Given the description of an element on the screen output the (x, y) to click on. 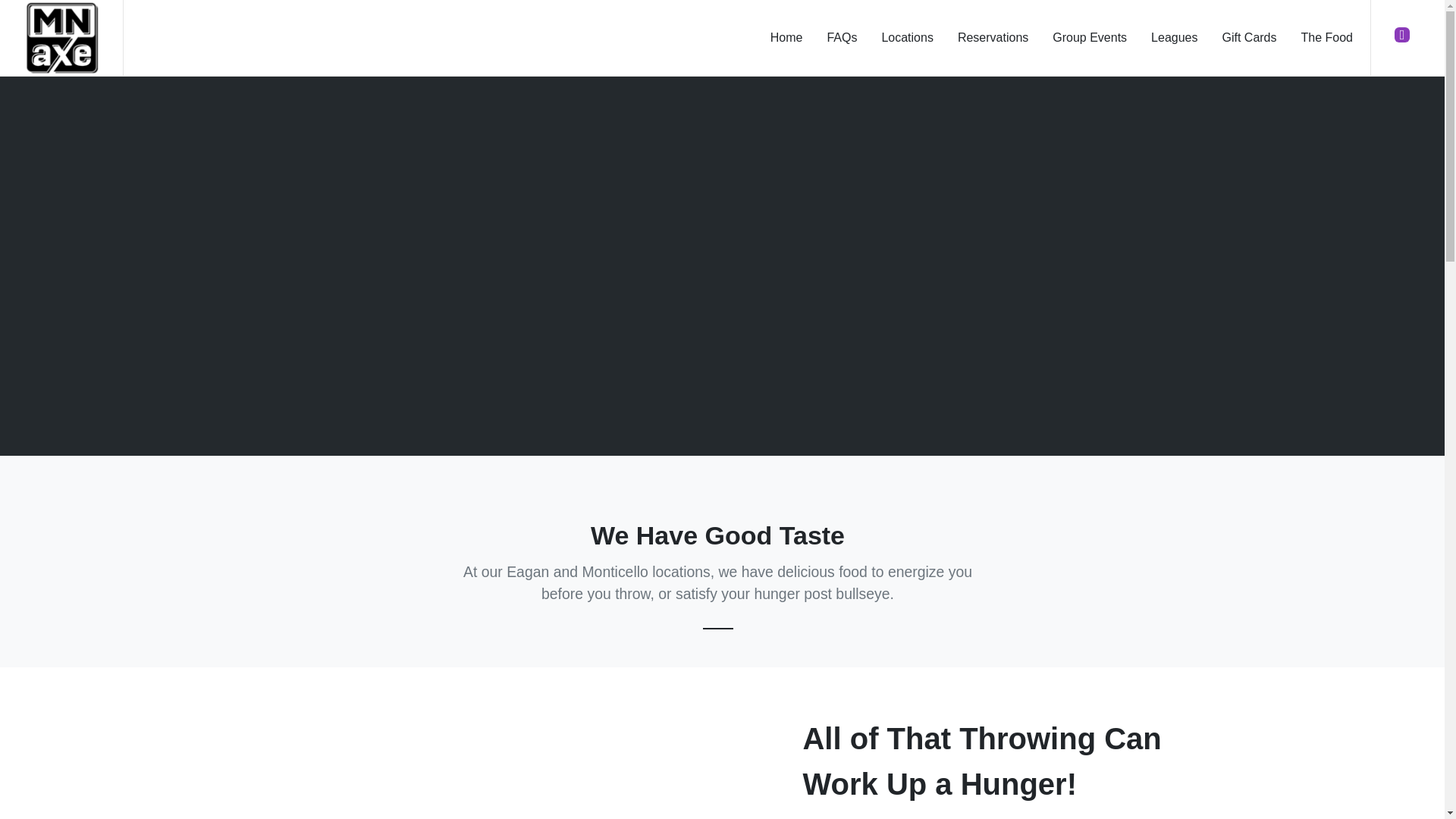
Gift Cards (1248, 38)
Click to visit Minnesota Axe on Instagram. (1401, 34)
Leagues (1174, 38)
Purchase Gift Cards Online. (1248, 38)
The Food (1327, 38)
Locations (906, 38)
